Given the description of an element on the screen output the (x, y) to click on. 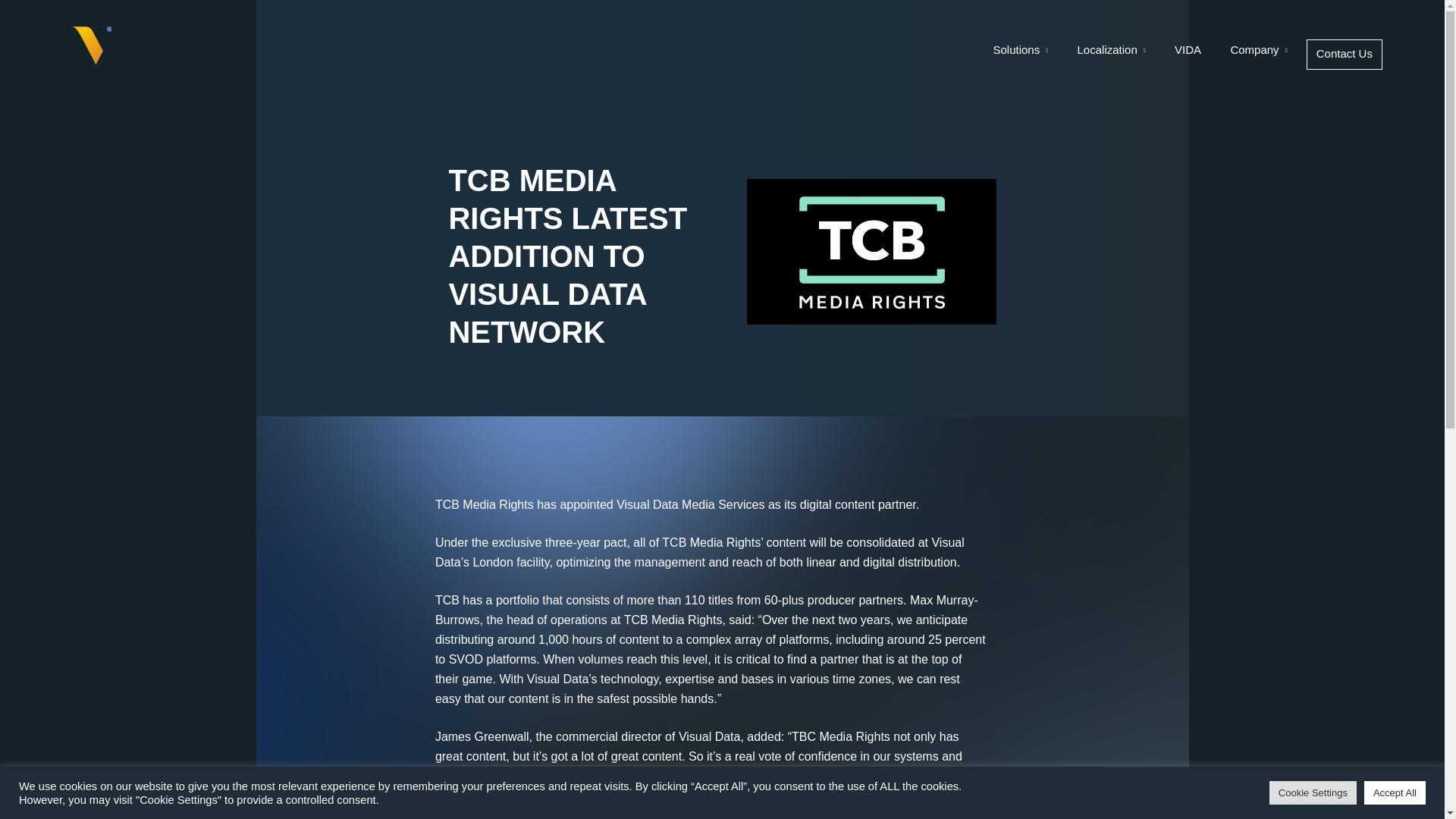
tcb-650x379-650x379 (870, 251)
Solutions (1020, 54)
Localization (1111, 54)
